Given the description of an element on the screen output the (x, y) to click on. 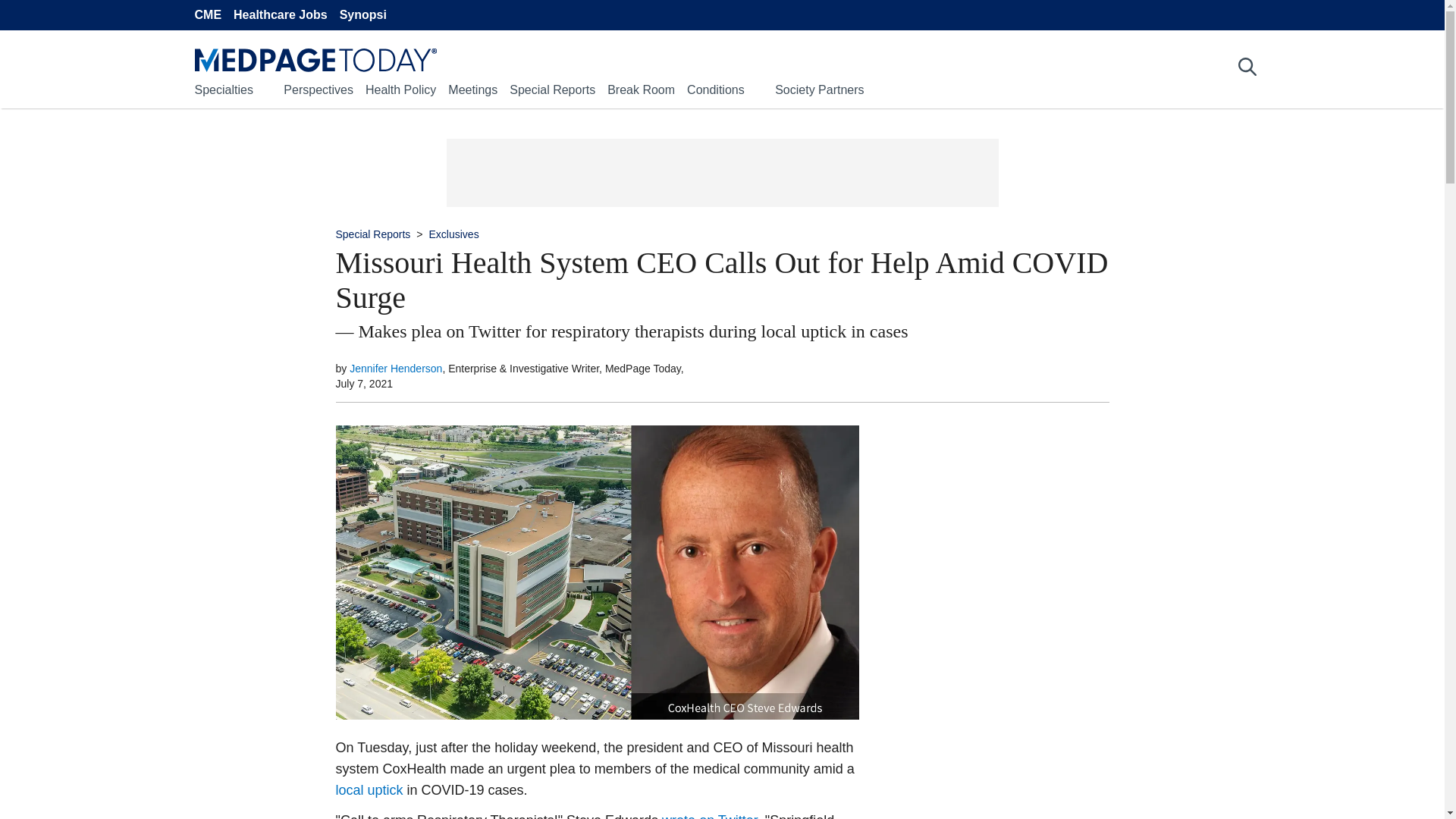
Share on X. Opens in a new tab or window (301, 476)
CME (207, 15)
Healthcare Jobs (279, 15)
Share on LinkedIn. Opens in a new tab or window (301, 516)
Share on Facebook. Opens in a new tab or window (301, 437)
Synopsi (363, 15)
Specialties (222, 89)
